Given the description of an element on the screen output the (x, y) to click on. 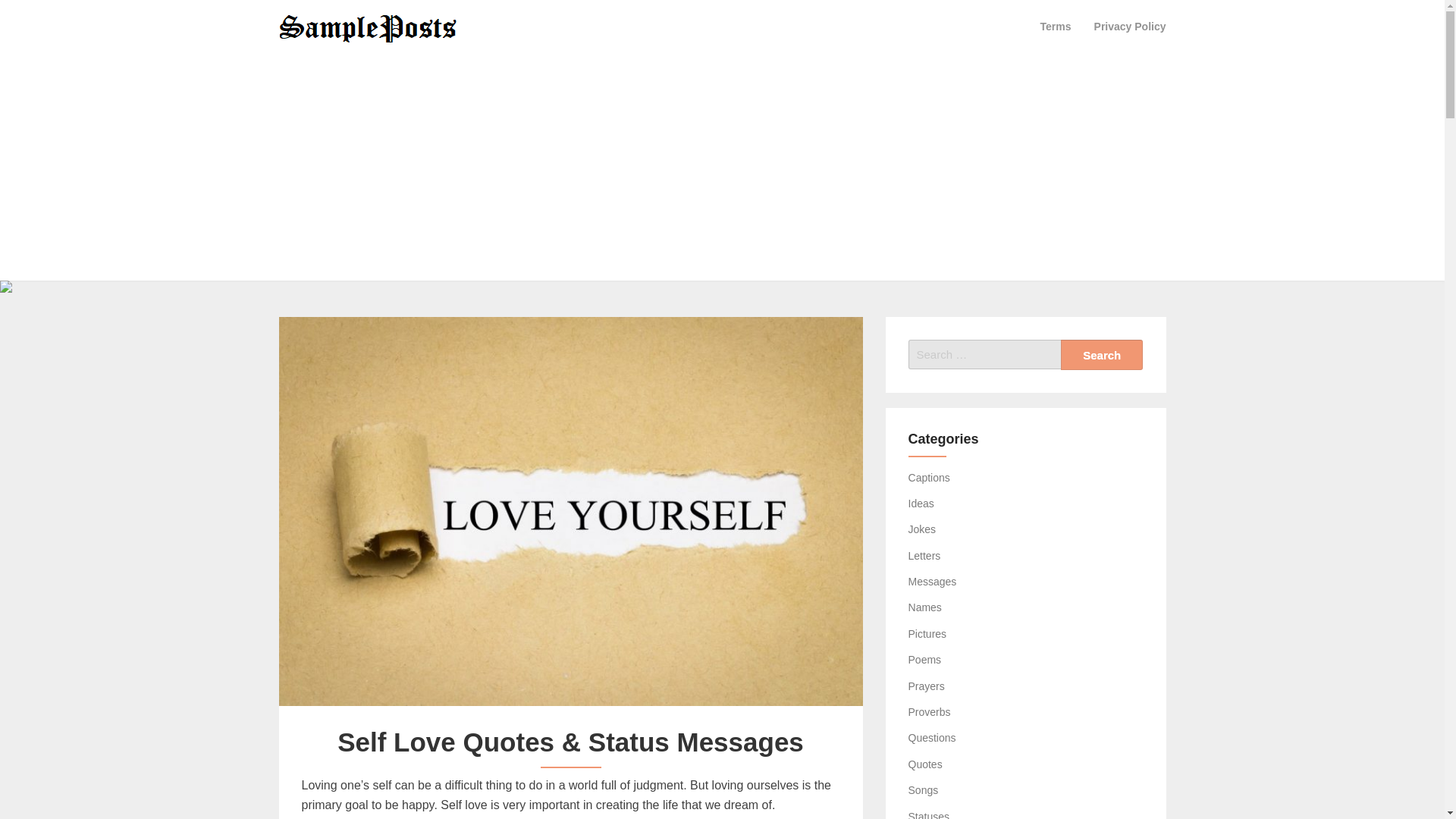
Search (1101, 354)
Search (1101, 354)
Prayers (926, 686)
Privacy Policy (1130, 26)
Songs (923, 789)
Poems (925, 659)
Terms (1056, 26)
Questions (932, 737)
Quotes (925, 764)
